Given the description of an element on the screen output the (x, y) to click on. 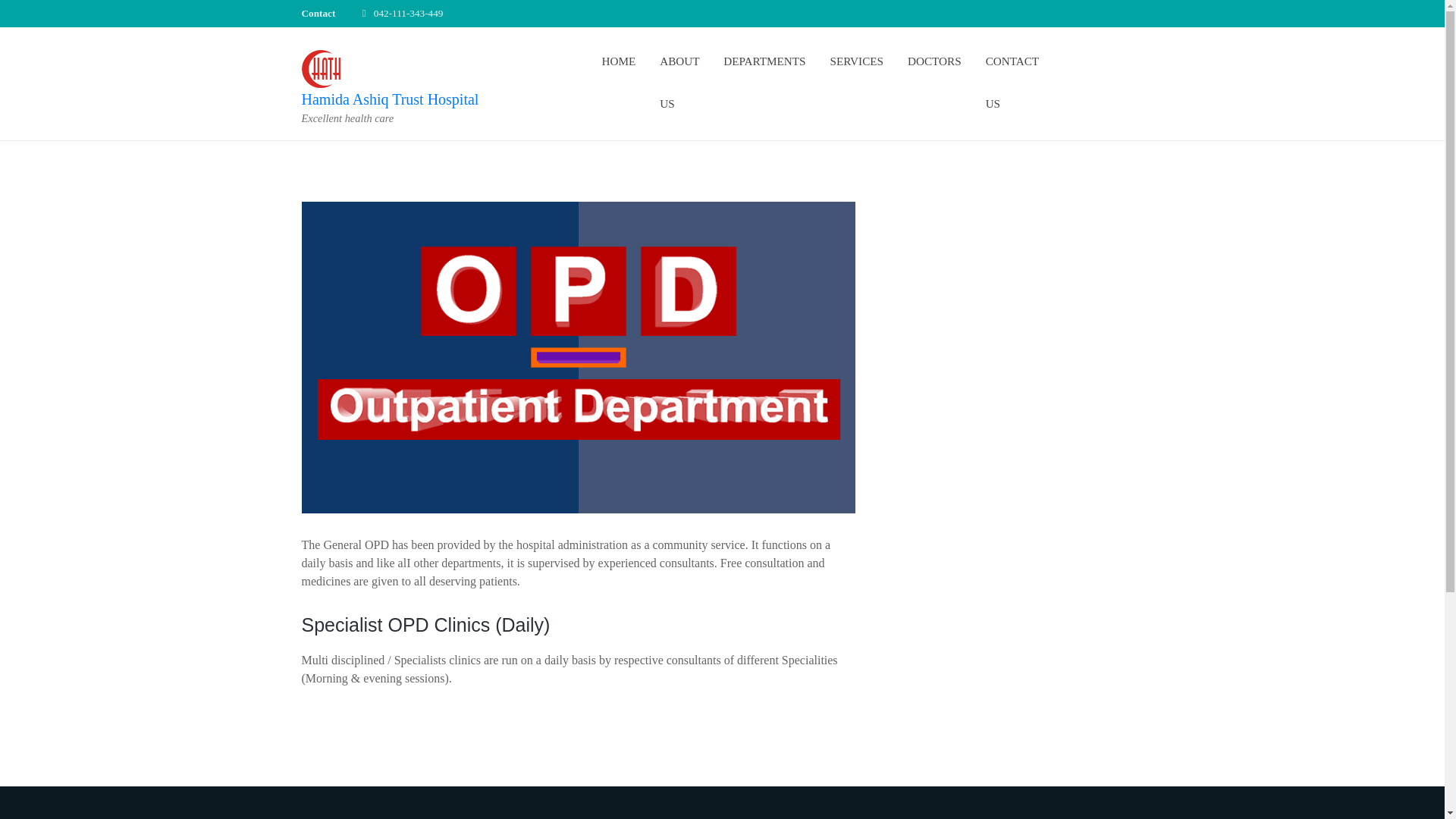
042-111-343-449 (408, 12)
Hamida Ashiq Trust Hospital (390, 98)
DEPARTMENTS (764, 60)
